Given the description of an element on the screen output the (x, y) to click on. 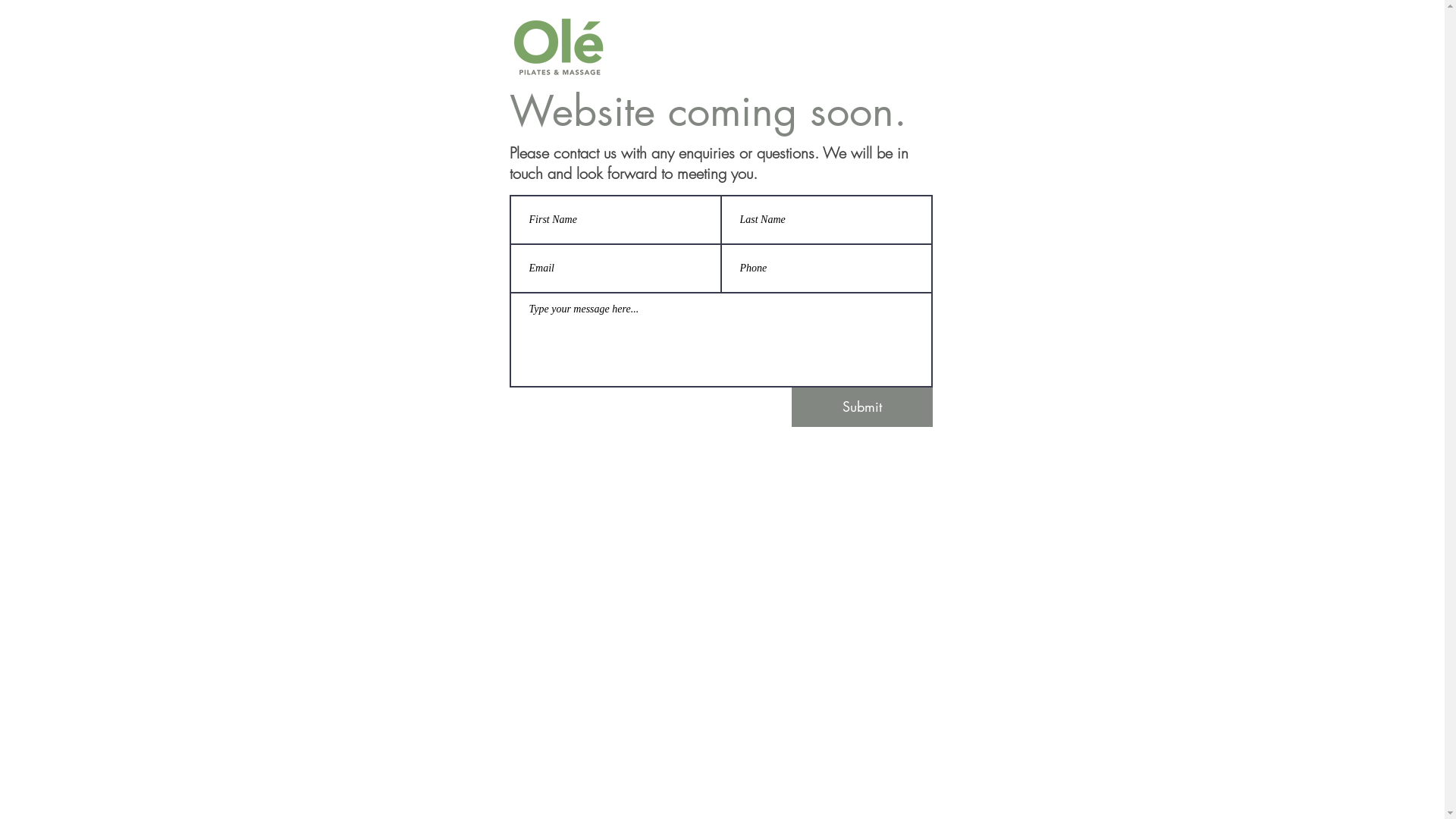
Submit Element type: text (861, 406)
